Given the description of an element on the screen output the (x, y) to click on. 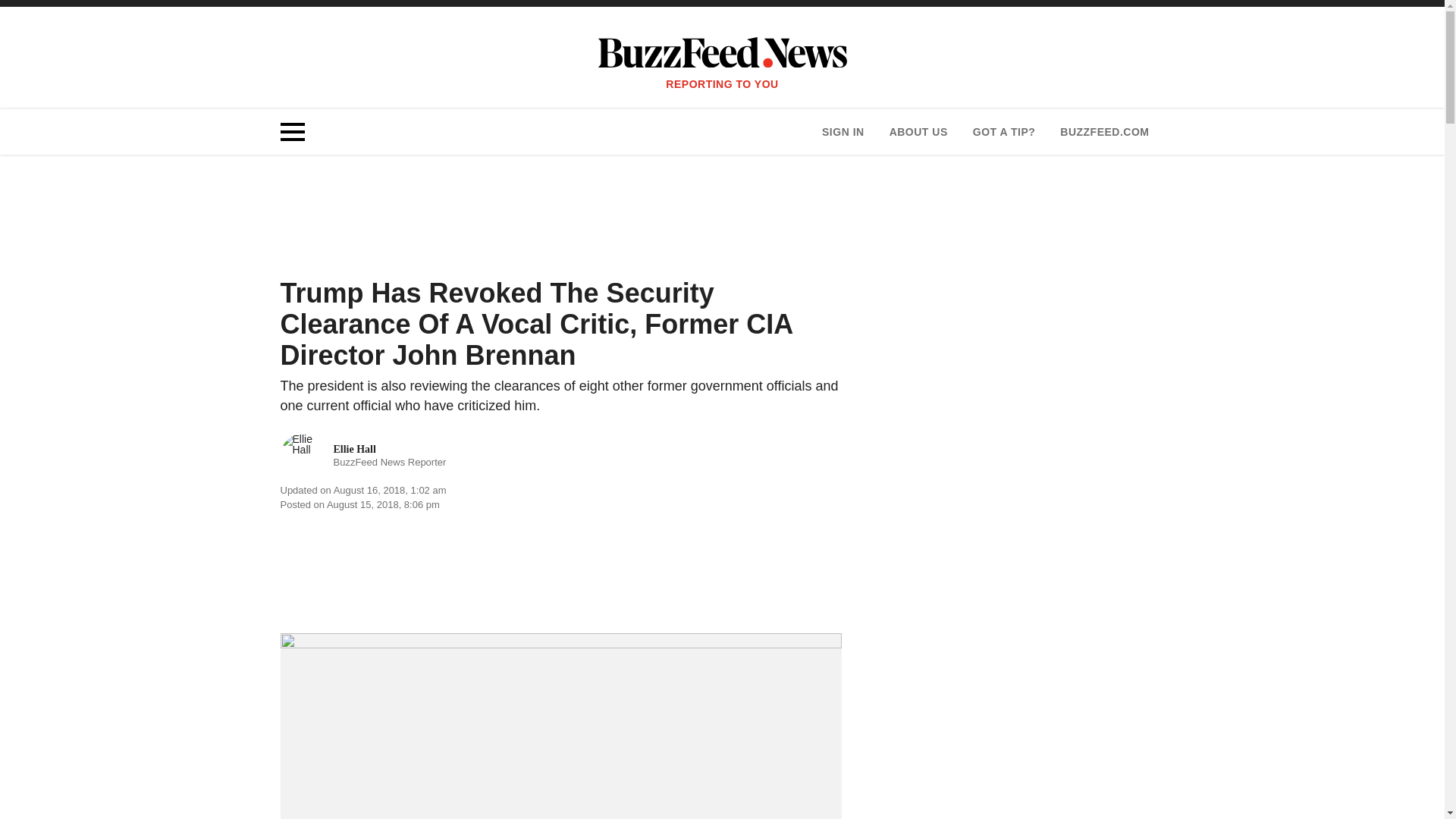
ABOUT US (917, 131)
GOT A TIP? (363, 455)
BUZZFEED.COM (1003, 131)
SIGN IN (1103, 131)
